Given the description of an element on the screen output the (x, y) to click on. 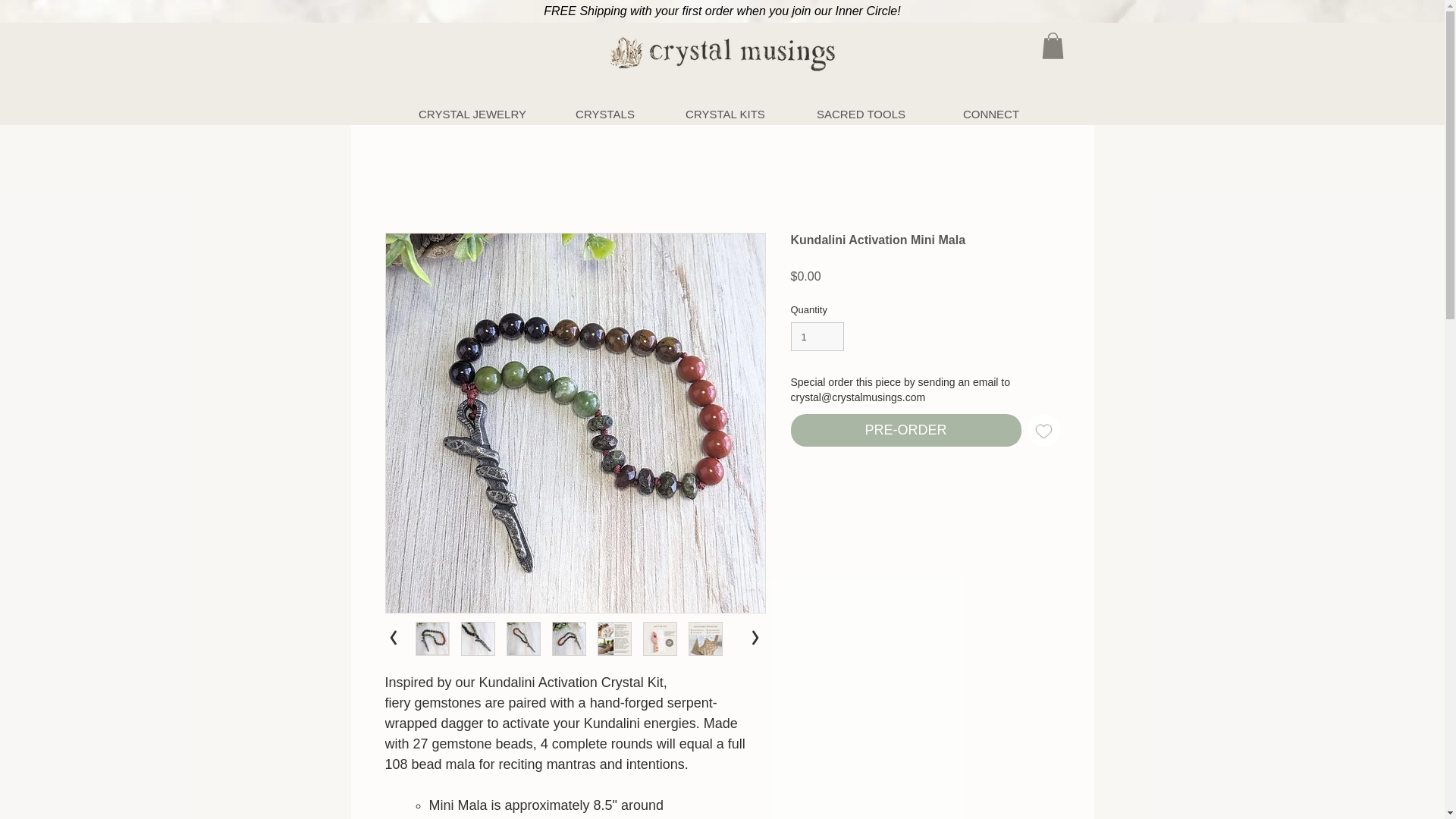
1 (817, 336)
CONNECT (990, 114)
CRYSTALS (603, 114)
CRYSTAL KITS (724, 114)
CRYSTAL JEWELRY (473, 114)
SACRED TOOLS (860, 114)
